Given the description of an element on the screen output the (x, y) to click on. 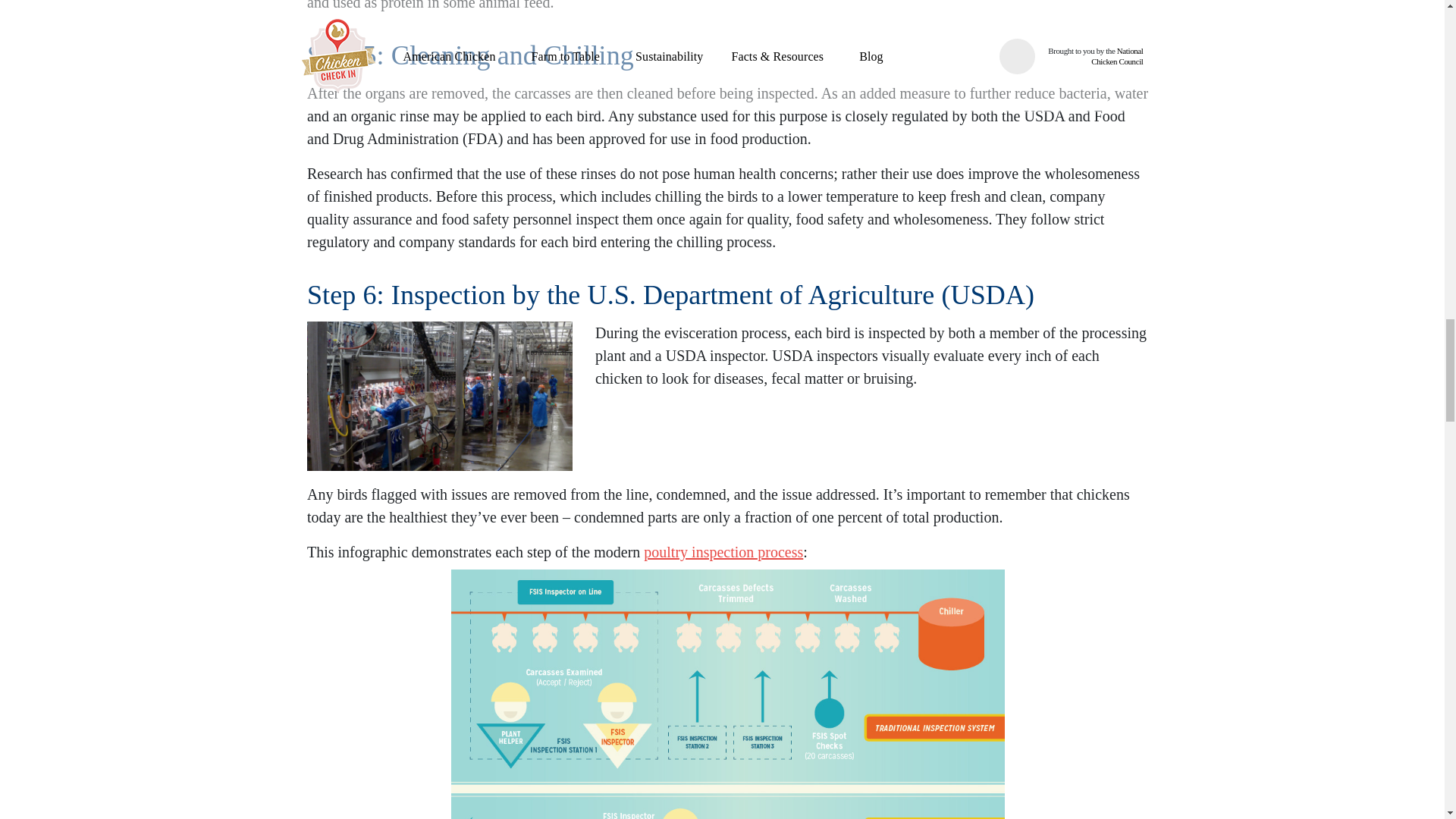
poultry inspection process (723, 551)
poultry-processing-inspection-2 (439, 395)
